Given the description of an element on the screen output the (x, y) to click on. 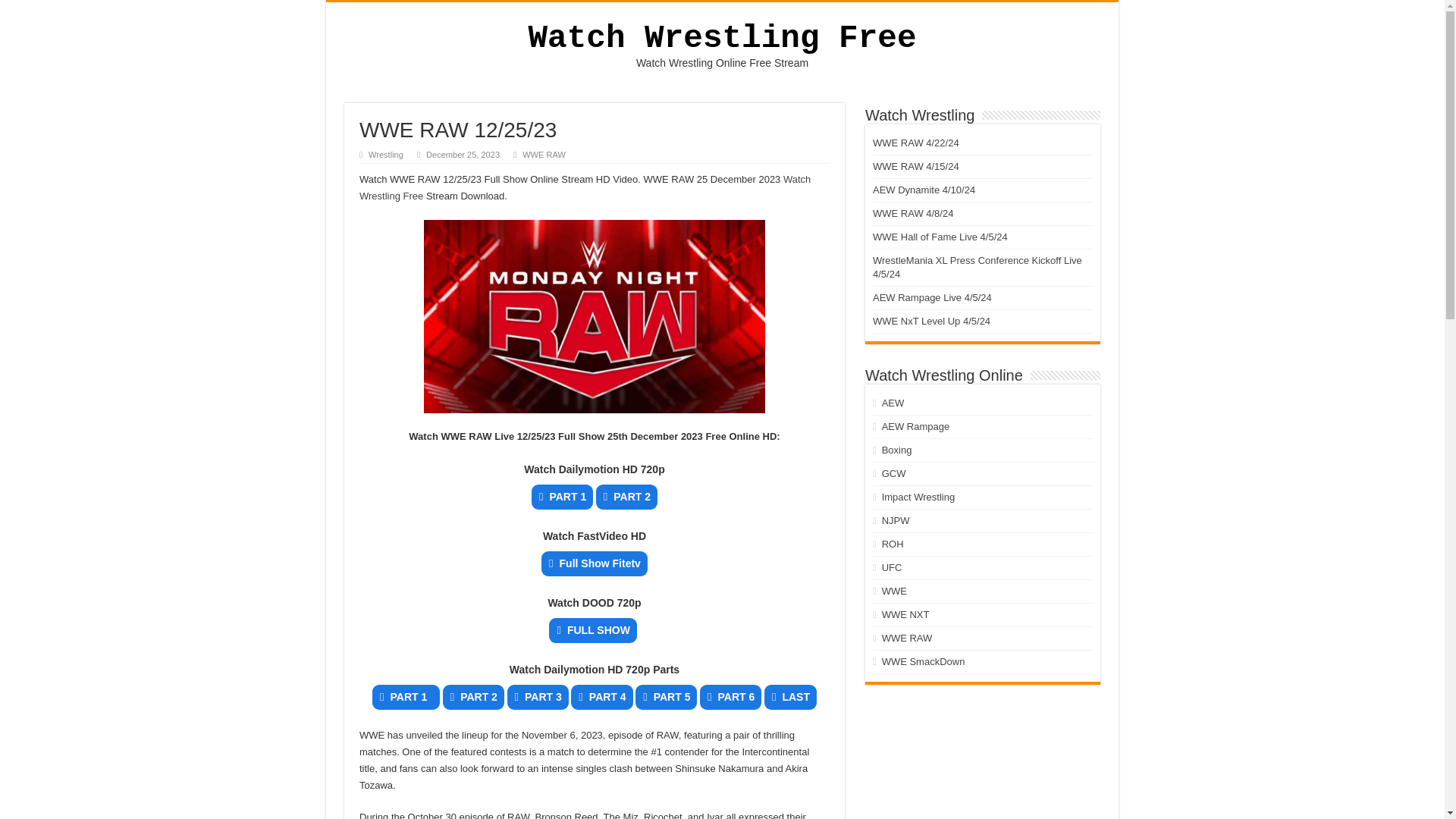
PART 5 (665, 697)
FULL SHOW (592, 630)
PART 1 (561, 496)
LAST (790, 697)
PART 6 (730, 697)
PART 2 (626, 496)
PART 3 (536, 697)
PART 1   (405, 697)
Wrestling (385, 153)
WWE RAW (544, 153)
